Given the description of an element on the screen output the (x, y) to click on. 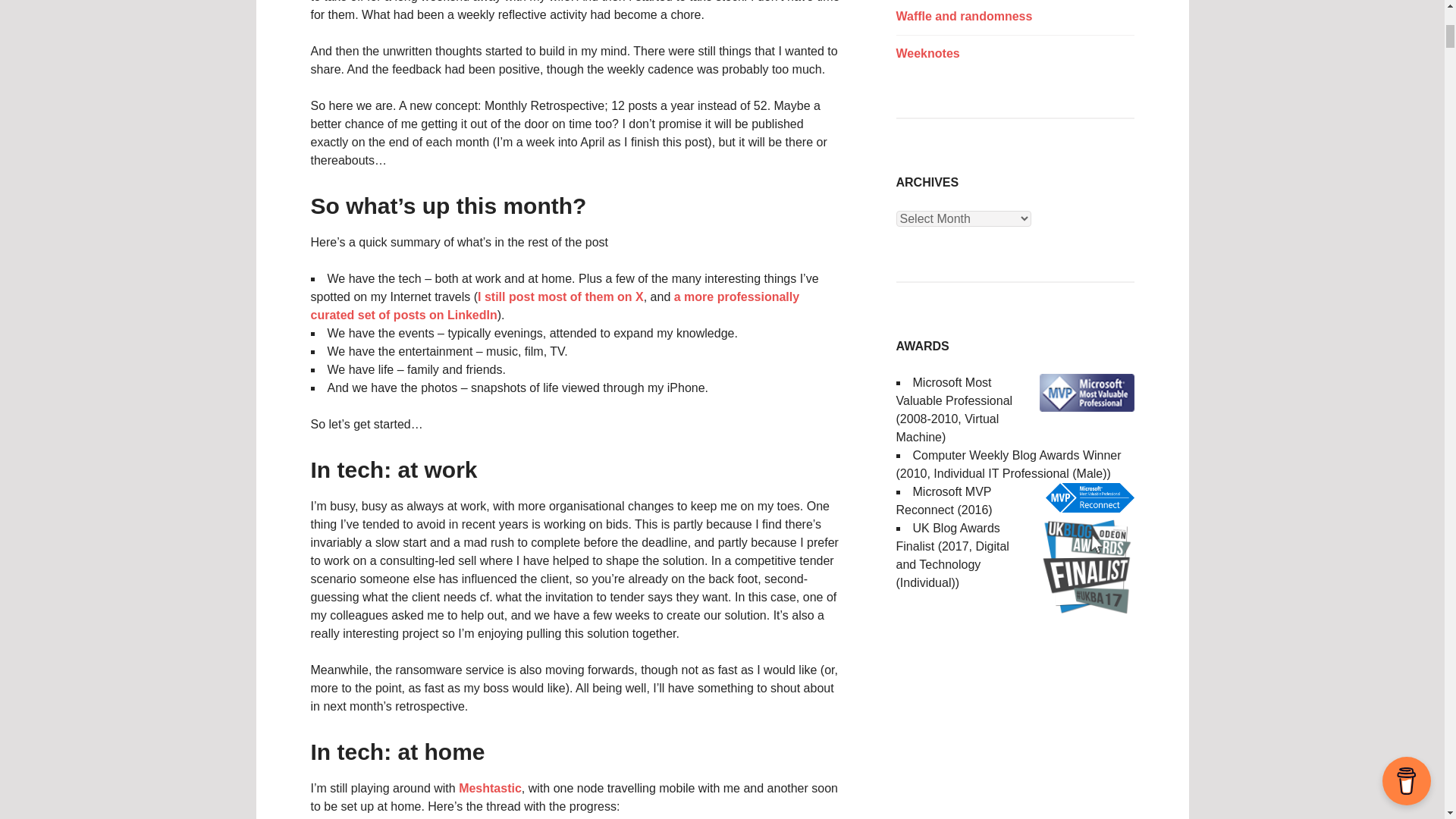
a more professionally curated set of posts on LinkedIn (555, 305)
I still post most of them on X (560, 296)
Meshtastic (489, 788)
